Given the description of an element on the screen output the (x, y) to click on. 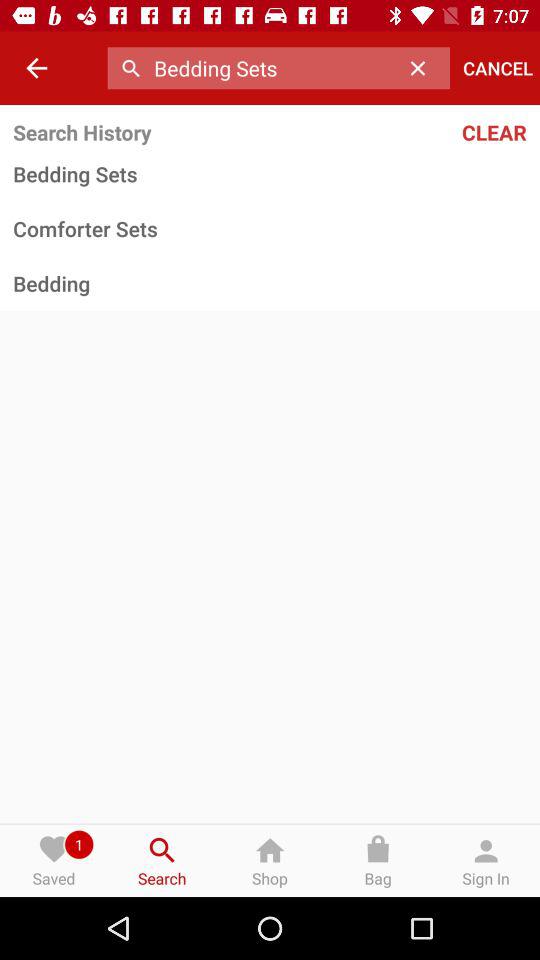
select the clear (449, 132)
